Given the description of an element on the screen output the (x, y) to click on. 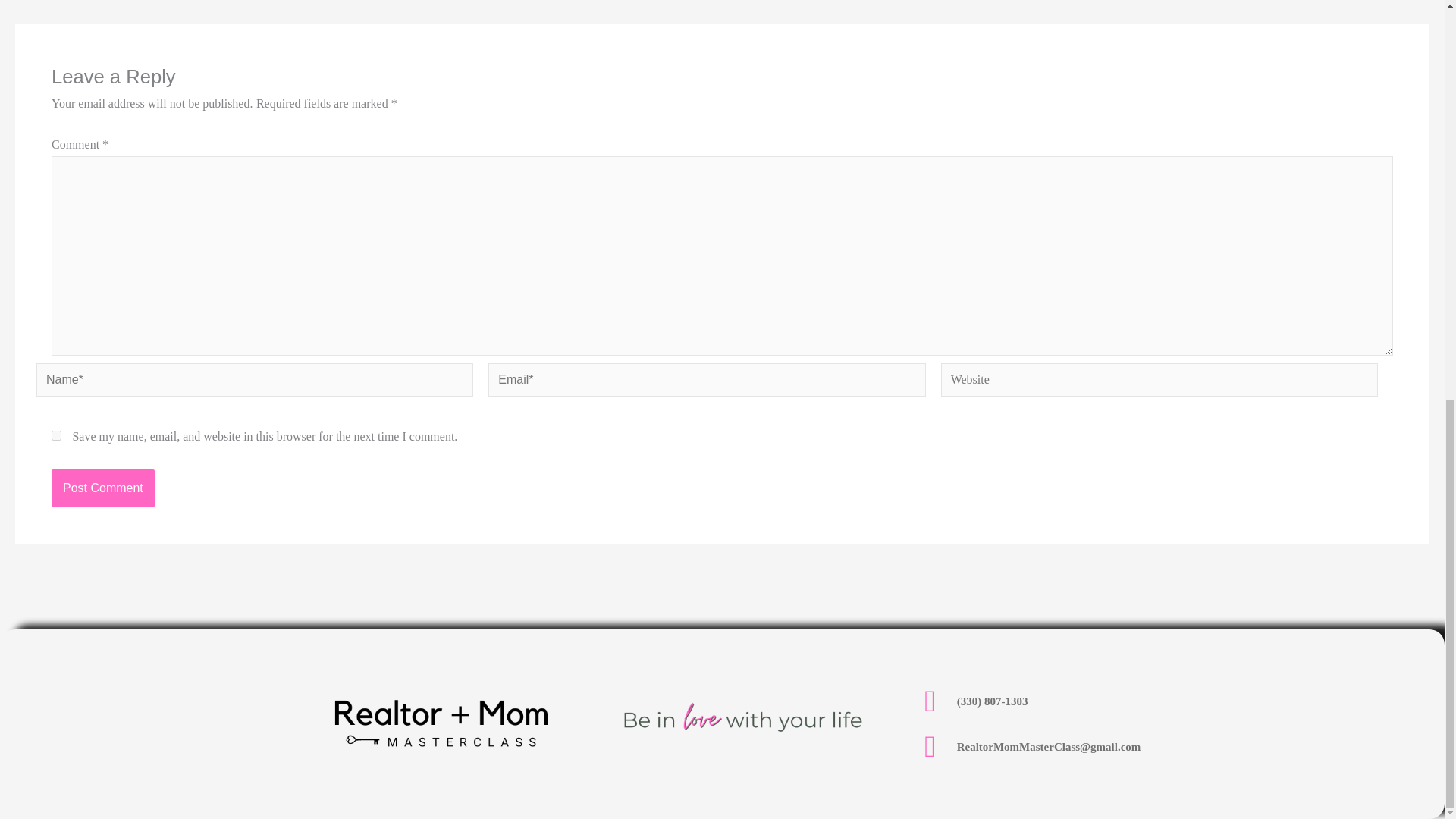
Post Comment (102, 487)
yes (55, 435)
Post Comment (102, 487)
